Given the description of an element on the screen output the (x, y) to click on. 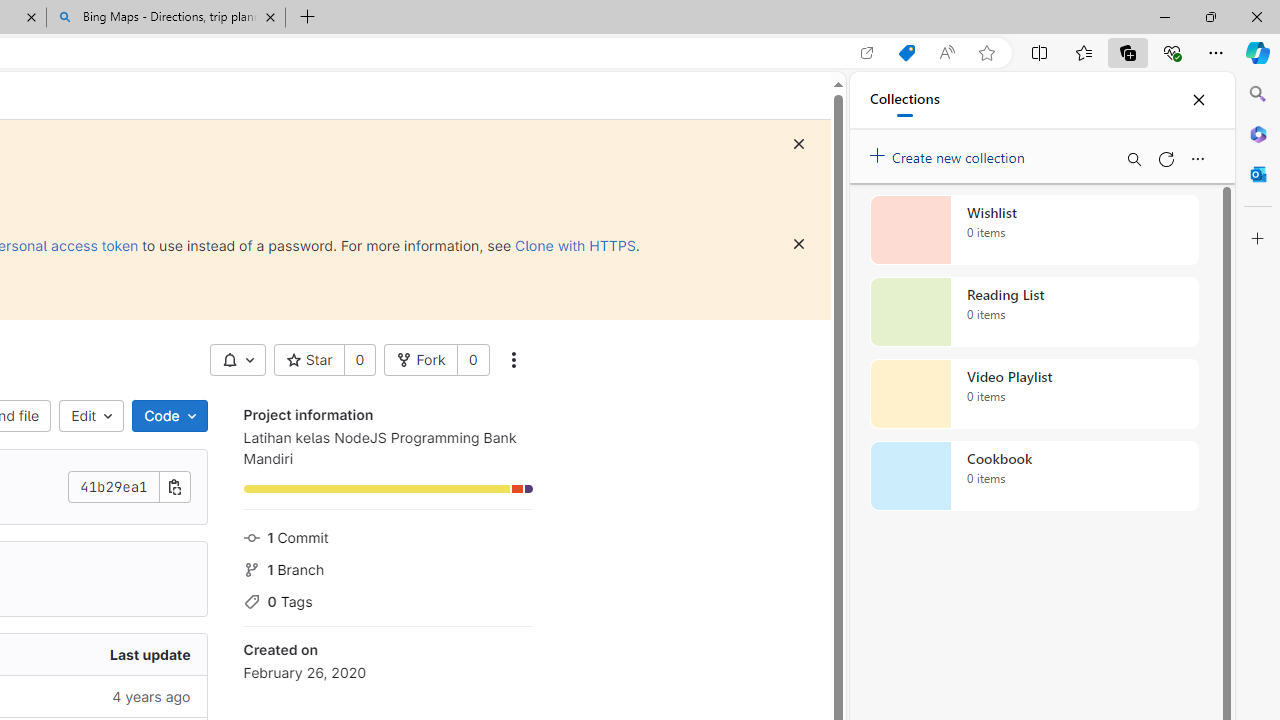
Copy commit SHA (173, 486)
 Star (308, 359)
Shopping in Microsoft Edge (906, 53)
0 Tags (387, 600)
1 Commit (387, 536)
More actions (512, 359)
Dismiss (799, 243)
0 Tags (387, 600)
Class: s16 gl-icon gl-button-icon  (798, 243)
1 Commit (387, 536)
